Given the description of an element on the screen output the (x, y) to click on. 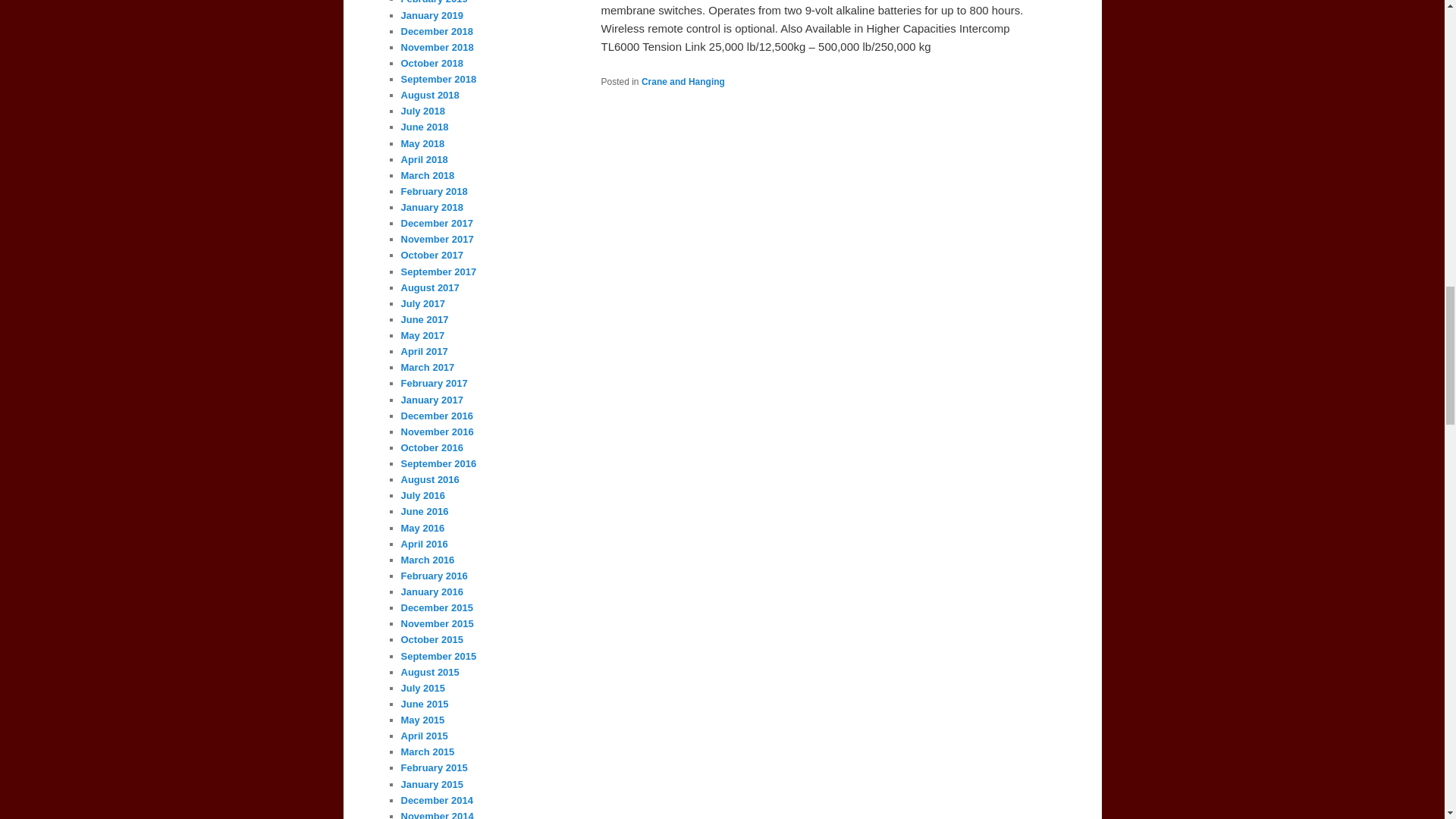
Crane and Hanging (683, 81)
